Given the description of an element on the screen output the (x, y) to click on. 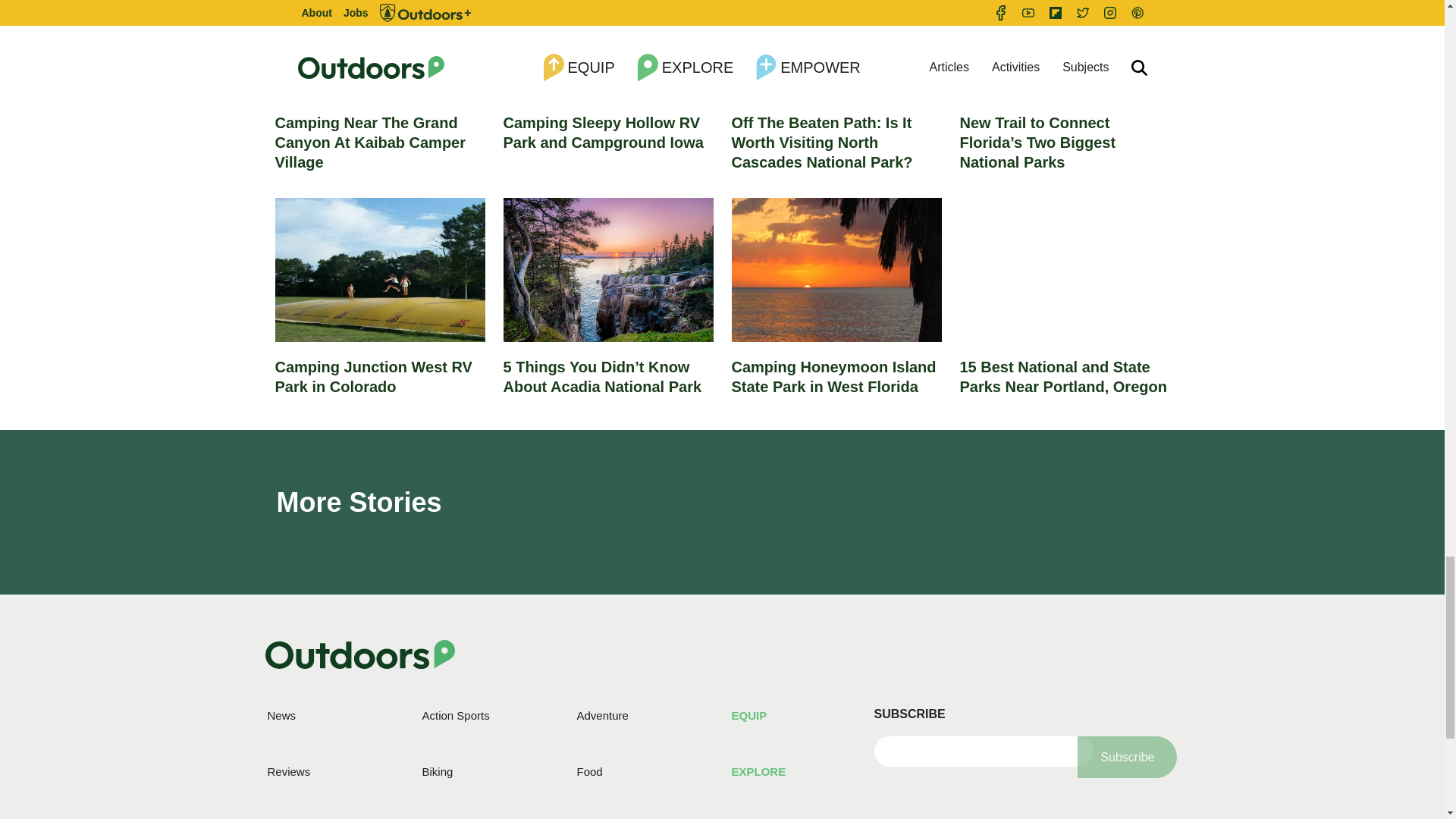
Subscribe (1126, 757)
